Given the description of an element on the screen output the (x, y) to click on. 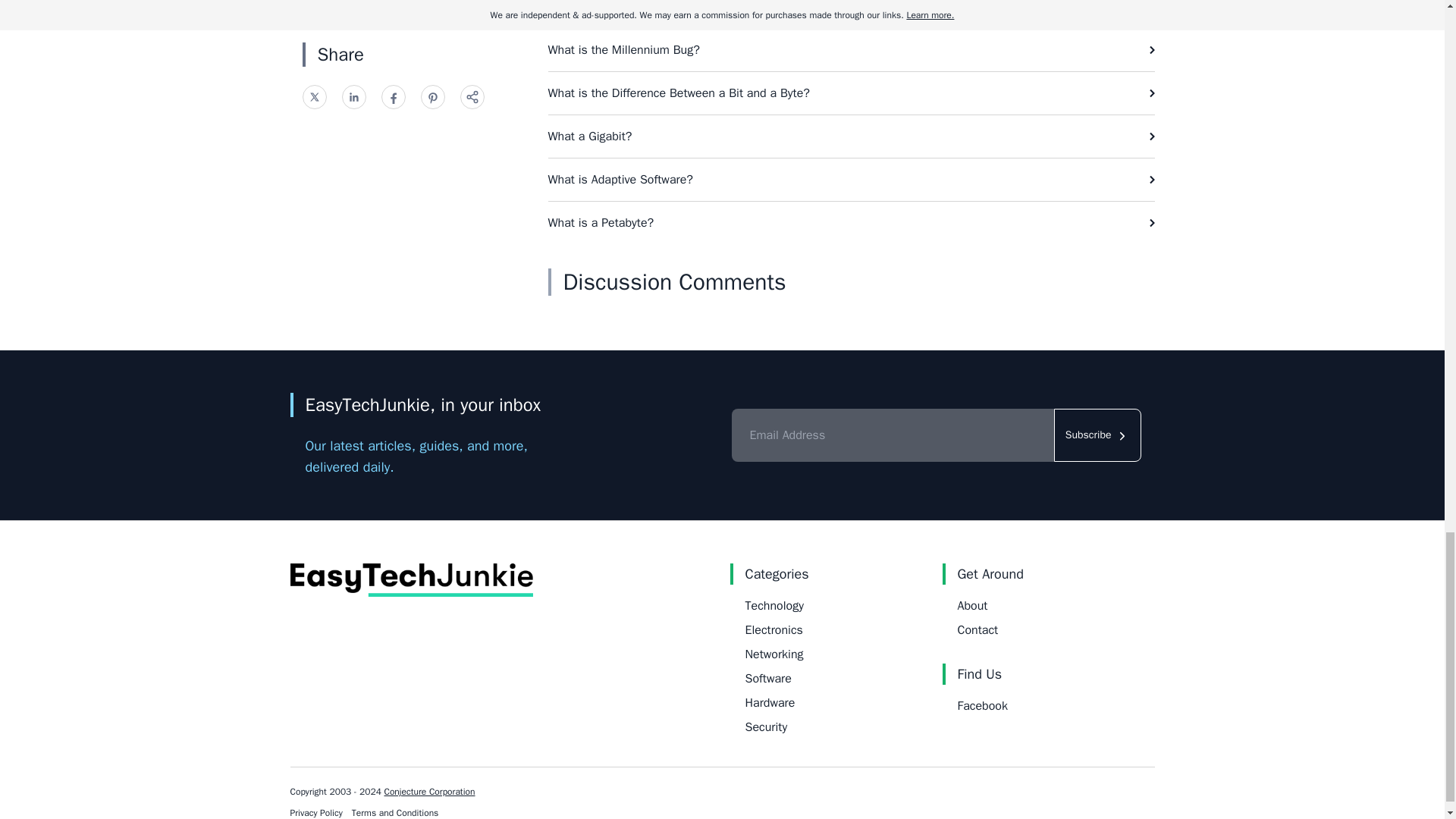
What is a Stop Bit? (850, 13)
